Given the description of an element on the screen output the (x, y) to click on. 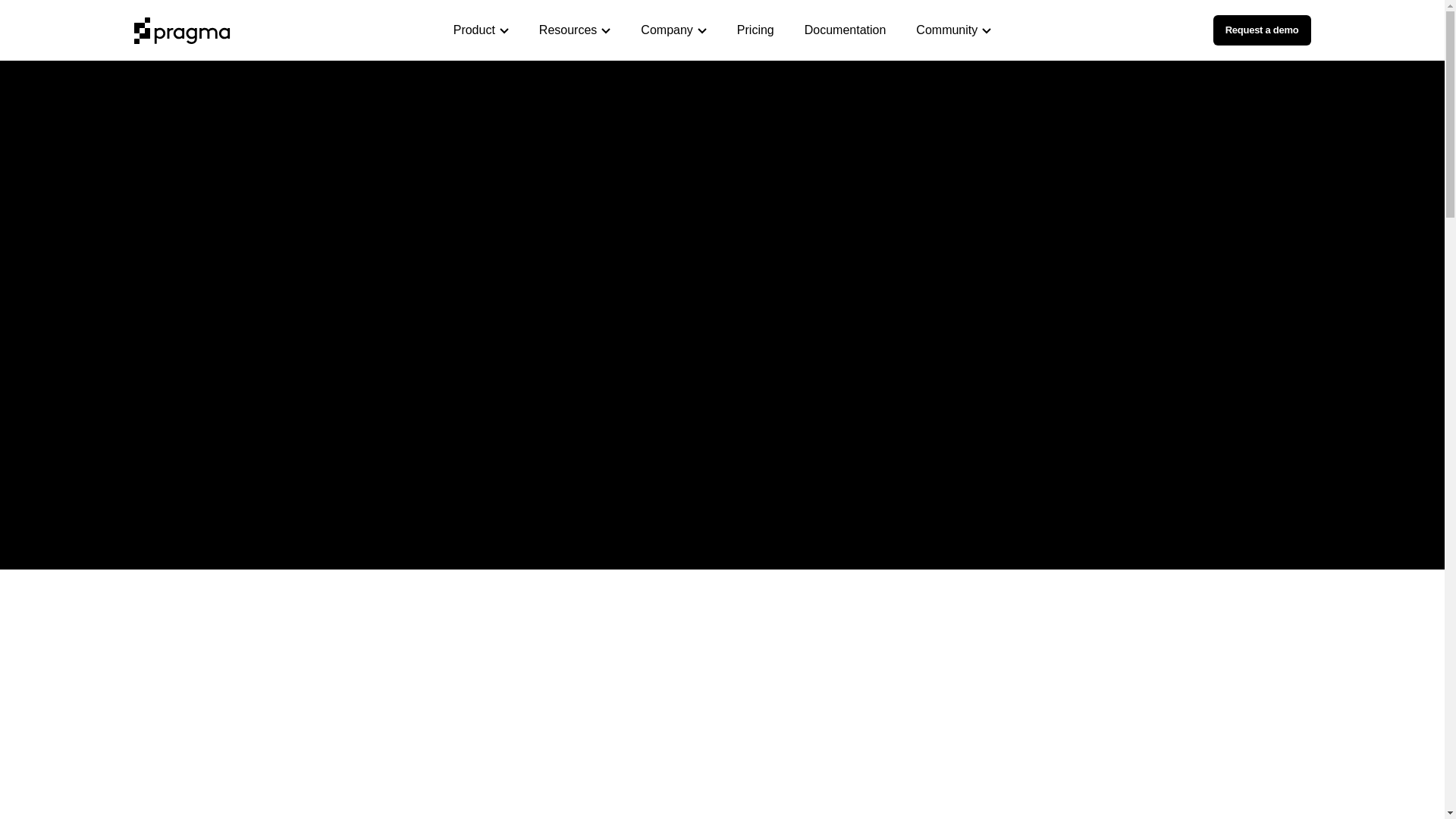
Pricing (755, 30)
Documentation (845, 30)
Request a demo (1261, 30)
